Given the description of an element on the screen output the (x, y) to click on. 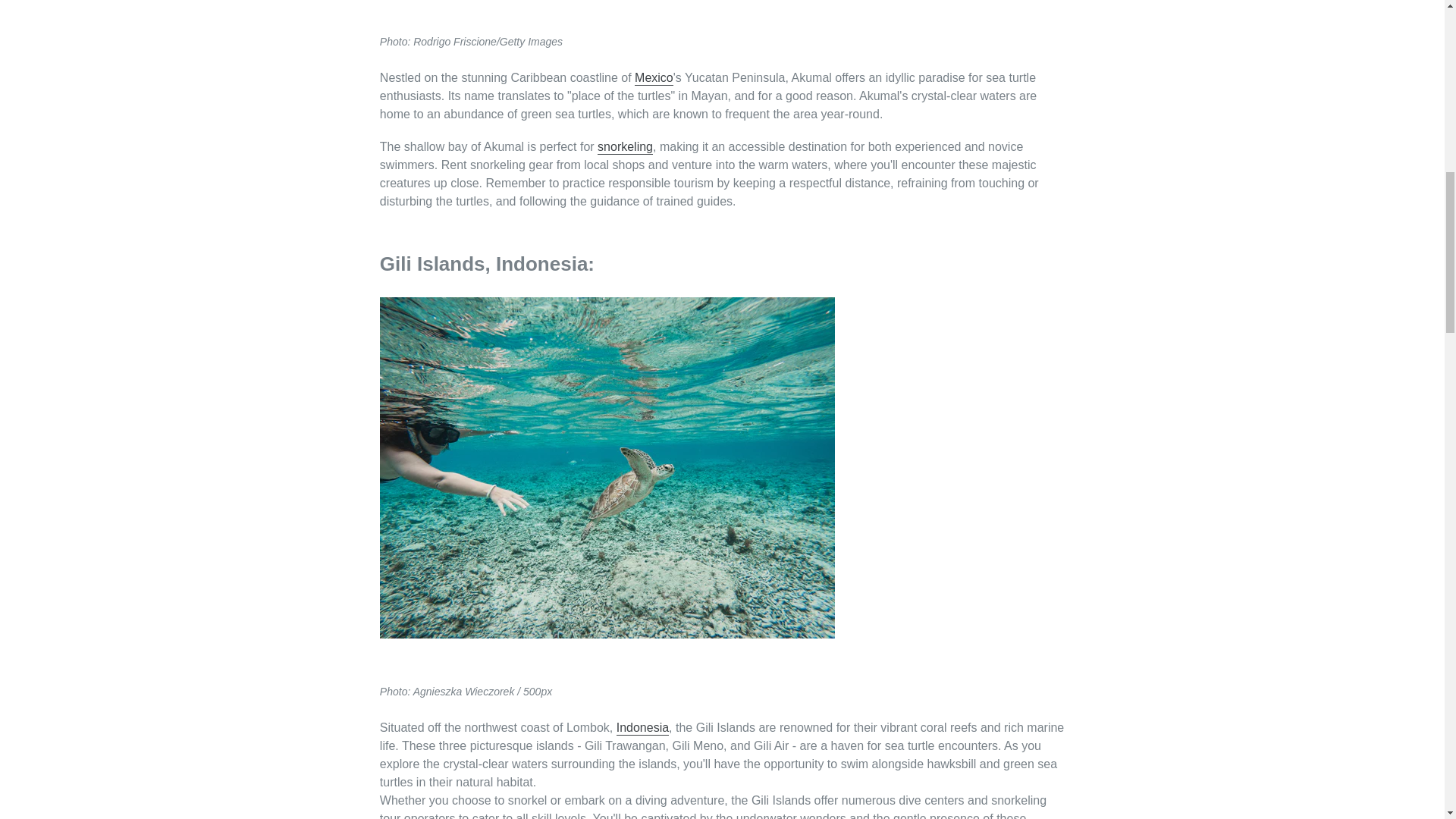
snorkeling (624, 147)
Mexico (653, 78)
Indonesia (641, 728)
